Given the description of an element on the screen output the (x, y) to click on. 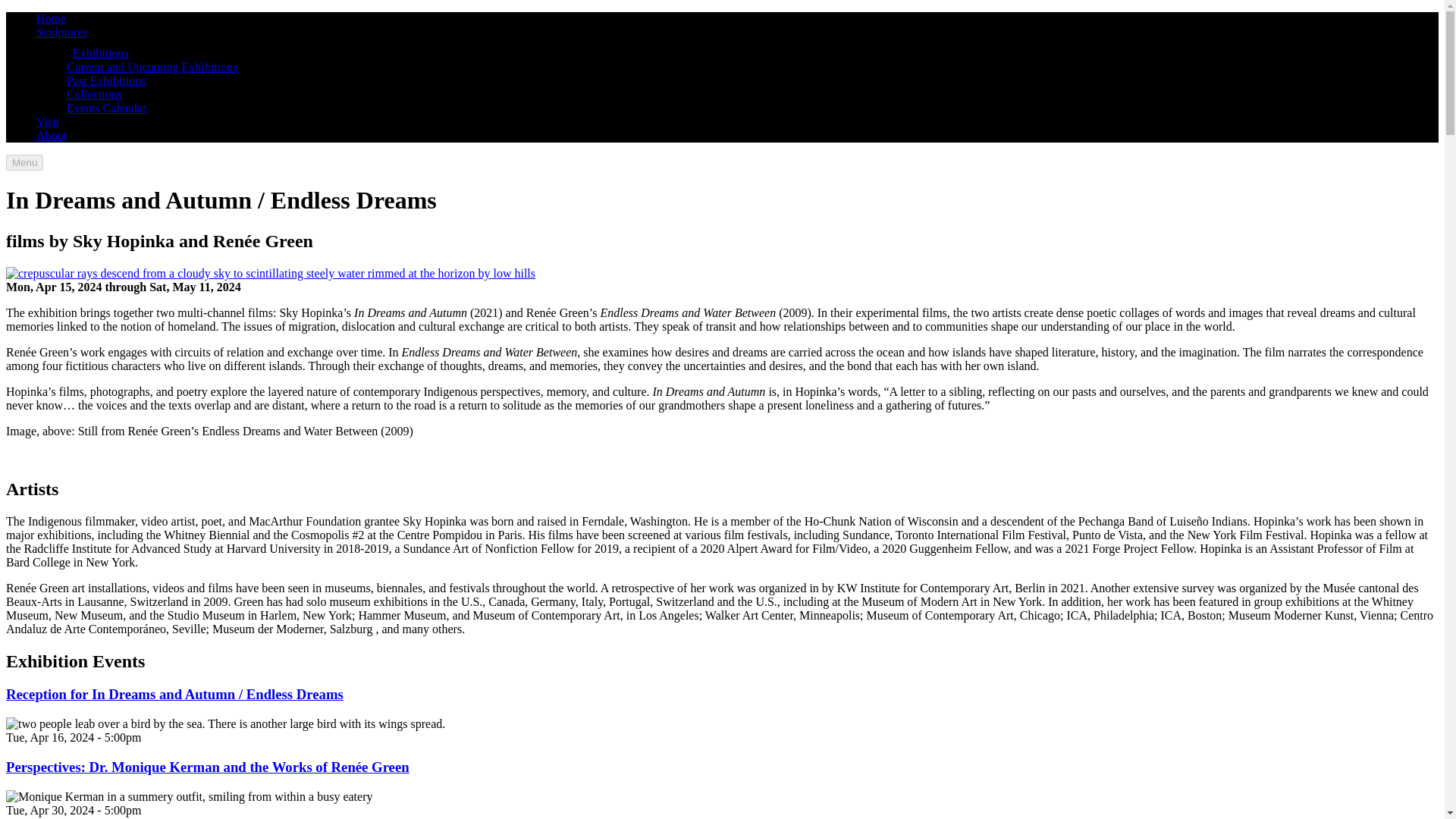
Sculptures (61, 31)
Sky Hopinka (434, 521)
Visit (47, 121)
Events Calendar (106, 107)
Past Exhibitions (105, 80)
Collections (94, 93)
Sculpture Collection (61, 31)
Home (50, 18)
Menu (24, 162)
About (51, 134)
Exhibitions (100, 52)
Current and Upcoming Exhibitions (151, 66)
